Given the description of an element on the screen output the (x, y) to click on. 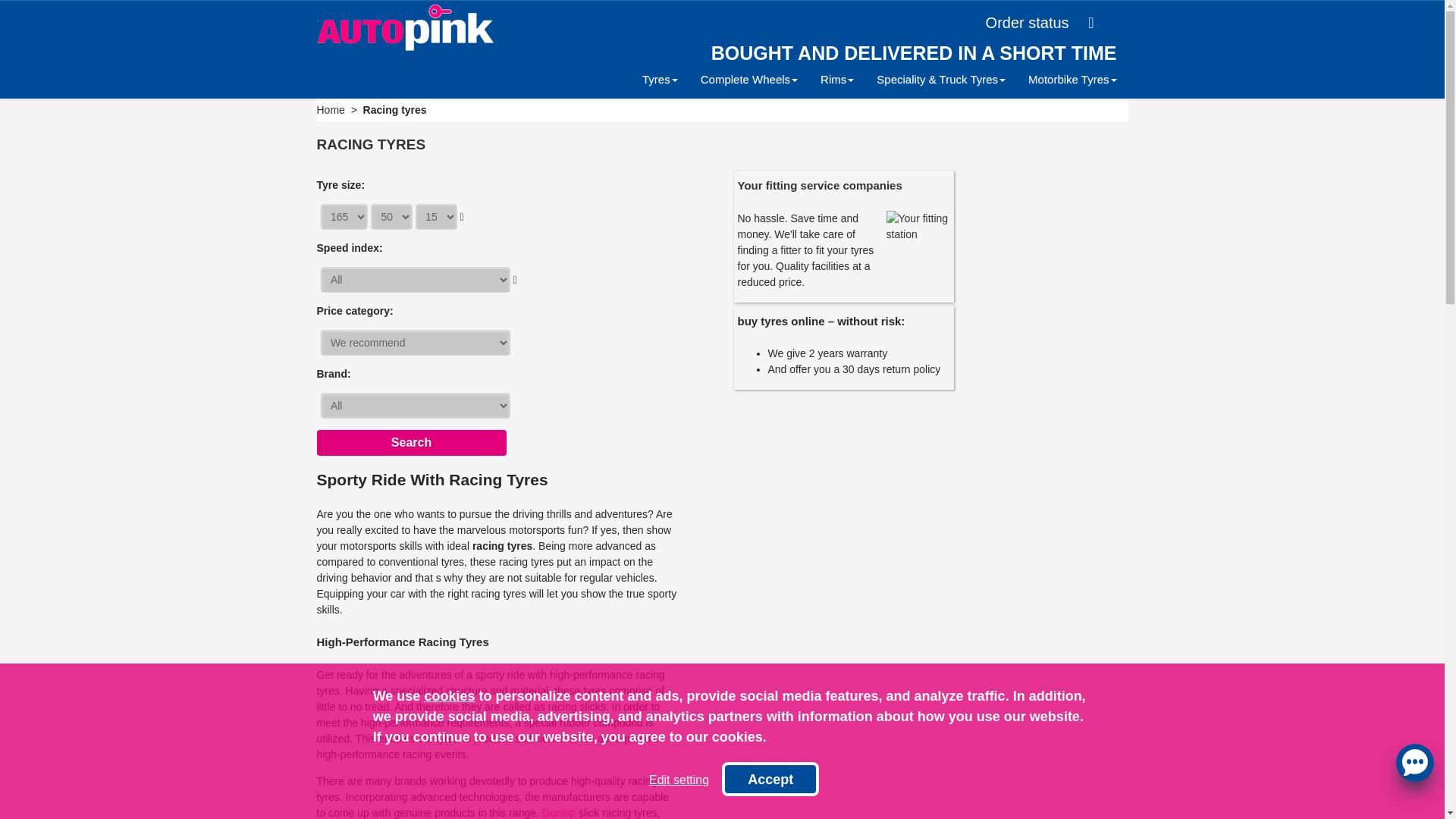
Edit setting (678, 780)
Tyres (659, 79)
Complete Wheels (748, 79)
Search (411, 442)
Order status (1040, 22)
Rims (836, 79)
Accept (770, 779)
cookies (448, 695)
